Given the description of an element on the screen output the (x, y) to click on. 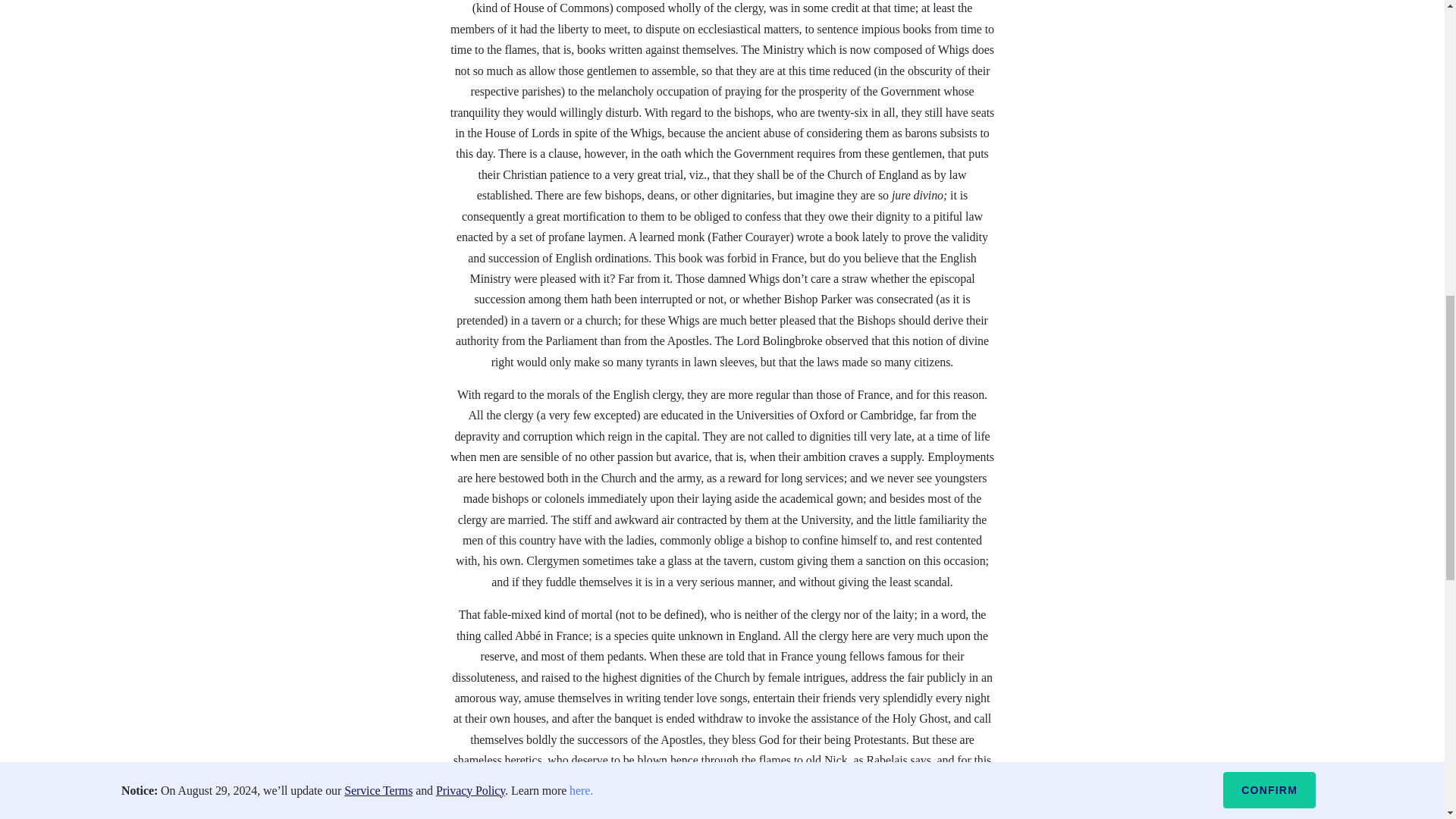
CONTENTS (633, 813)
BIBLIOGRAPHIC RECORD (765, 813)
